Given the description of an element on the screen output the (x, y) to click on. 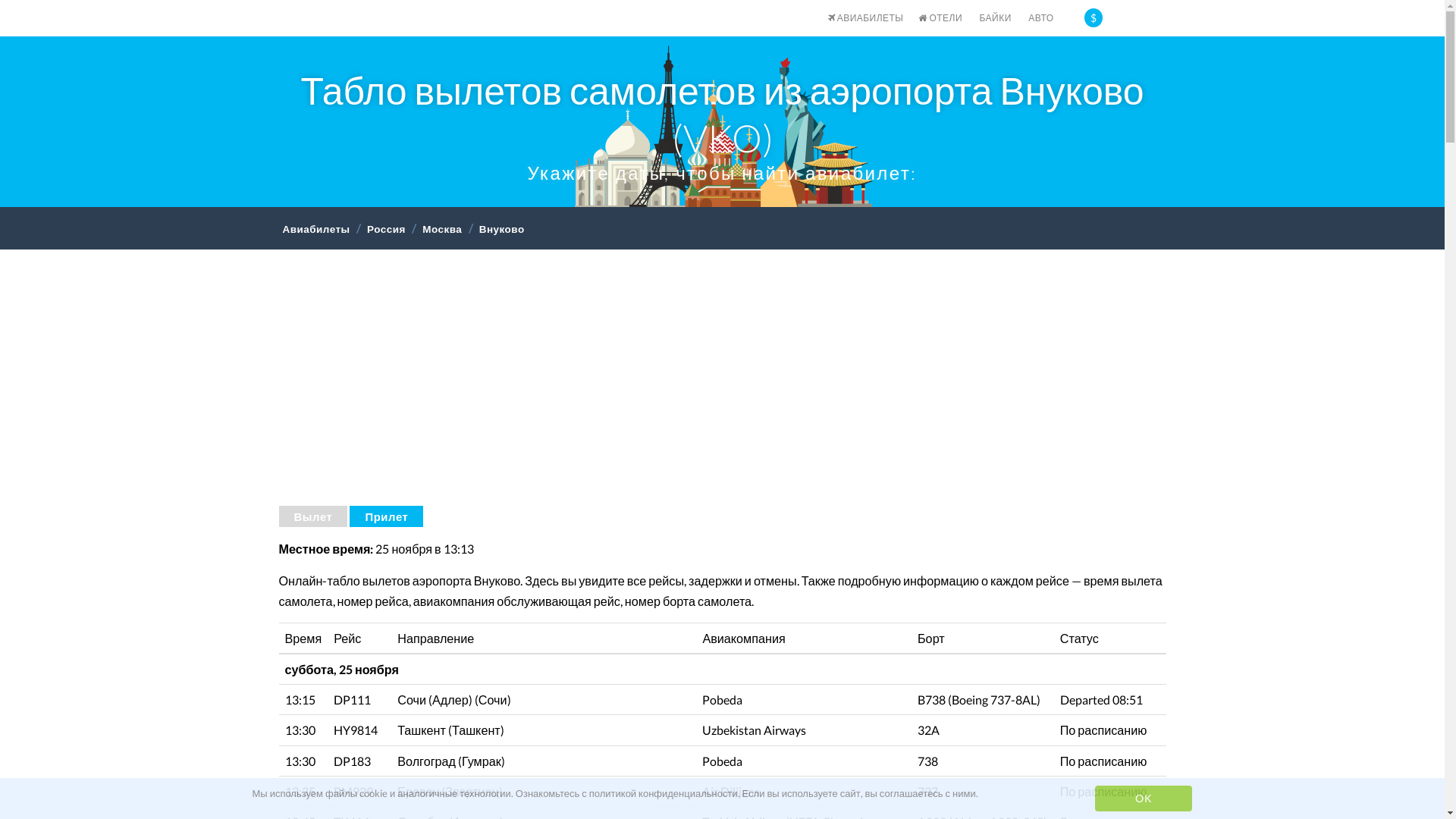
Advertisement Element type: hover (722, 385)
OK Element type: text (1143, 798)
$ Element type: text (1093, 18)
